Given the description of an element on the screen output the (x, y) to click on. 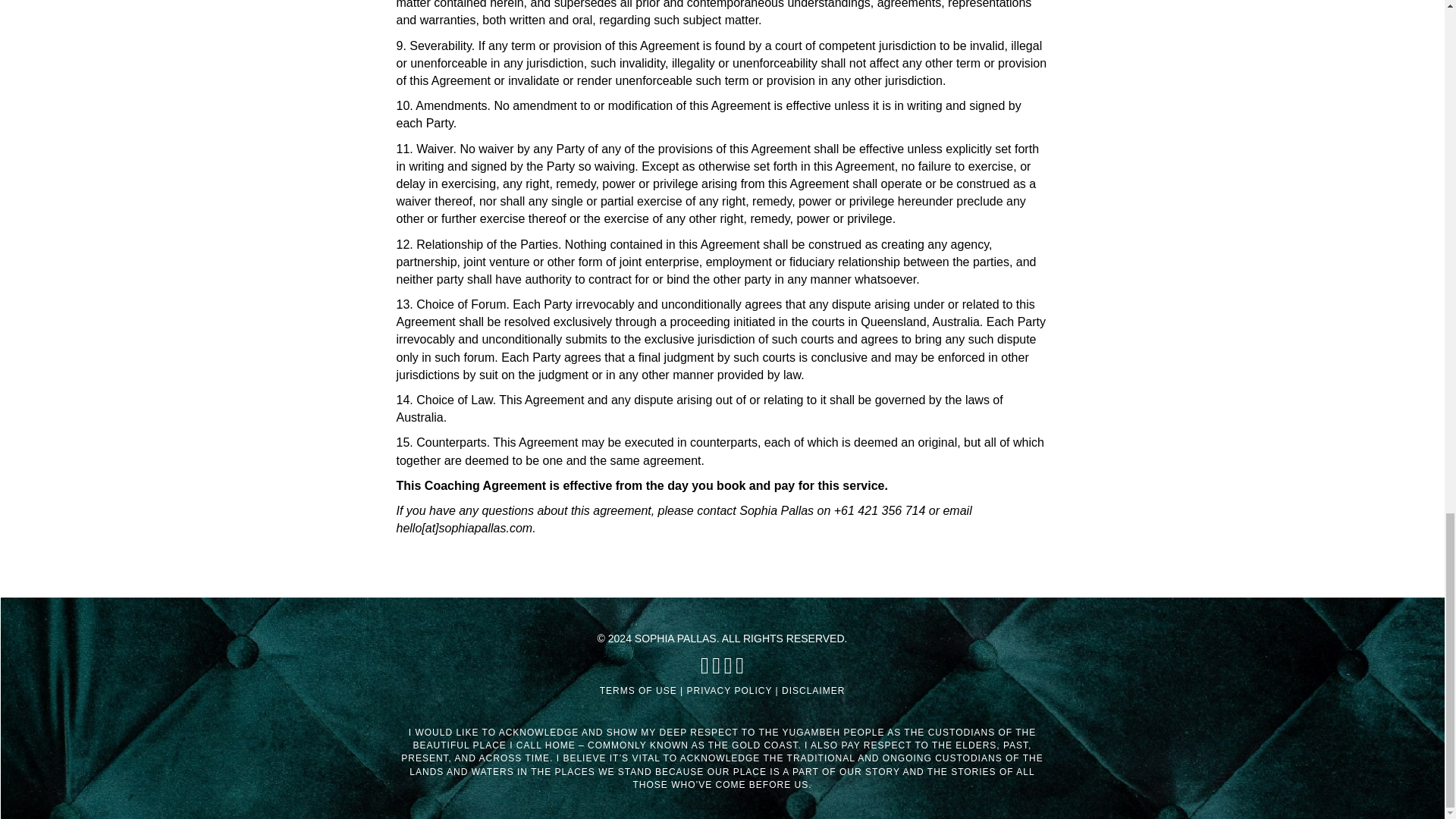
DISCLAIMER (812, 690)
PRIVACY POLICY (728, 690)
TERMS OF USE (638, 690)
